Given the description of an element on the screen output the (x, y) to click on. 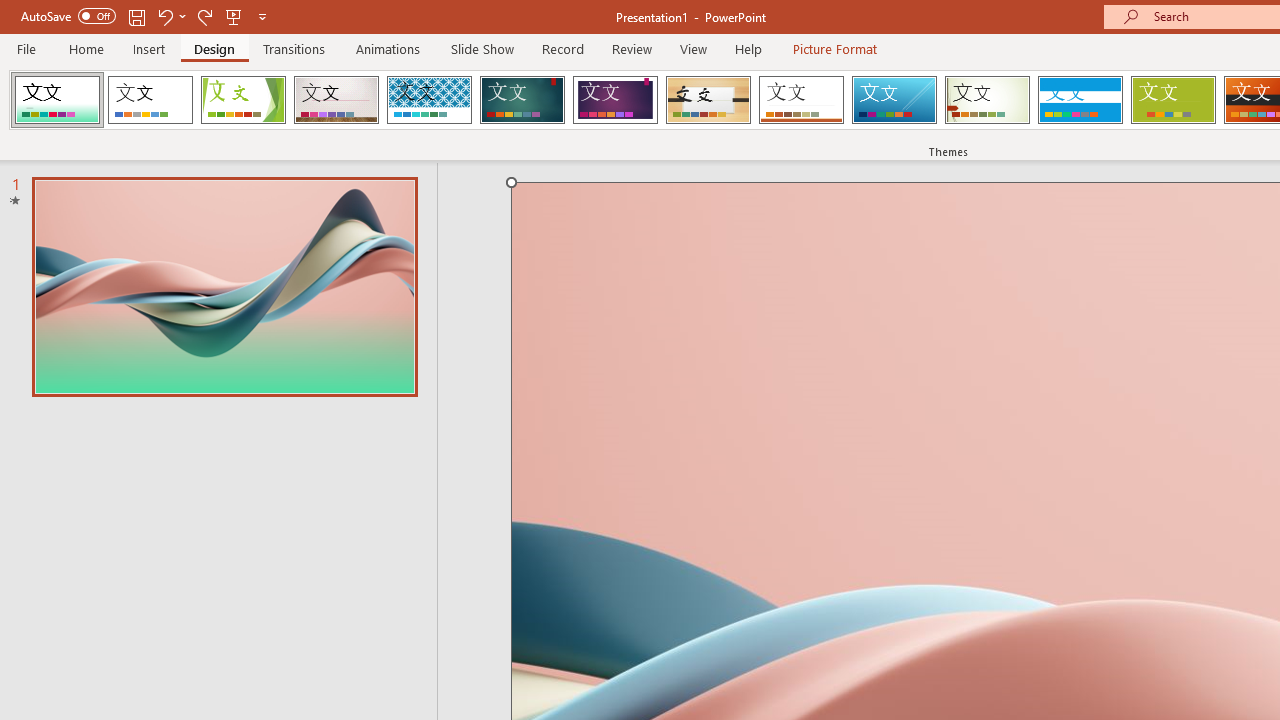
Ion (522, 100)
Wisp (987, 100)
Picture Format (834, 48)
Basis (1172, 100)
Banded (1080, 100)
